Given the description of an element on the screen output the (x, y) to click on. 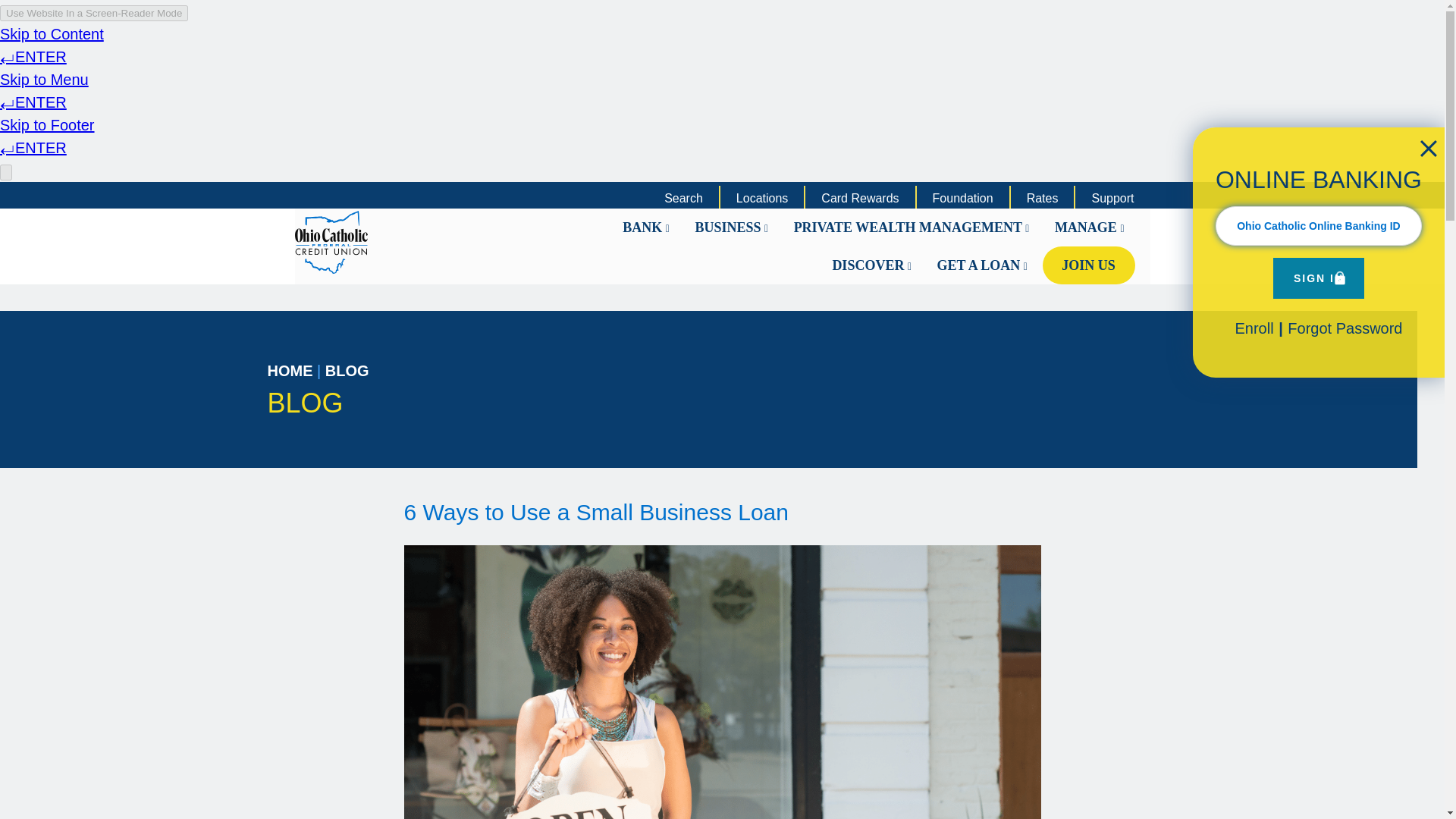
BANK (645, 227)
Rates (1042, 199)
SIGN IN (1318, 277)
Foundation (962, 199)
Support (1112, 199)
OHIO CATHOLIC FCU (430, 241)
MANAGE (1089, 227)
BUSINESS (731, 227)
Card Rewards (860, 199)
Locations (762, 199)
PRIVATE WEALTH MANAGEMENT (912, 227)
Search (683, 199)
DISCOVER (871, 265)
